Given the description of an element on the screen output the (x, y) to click on. 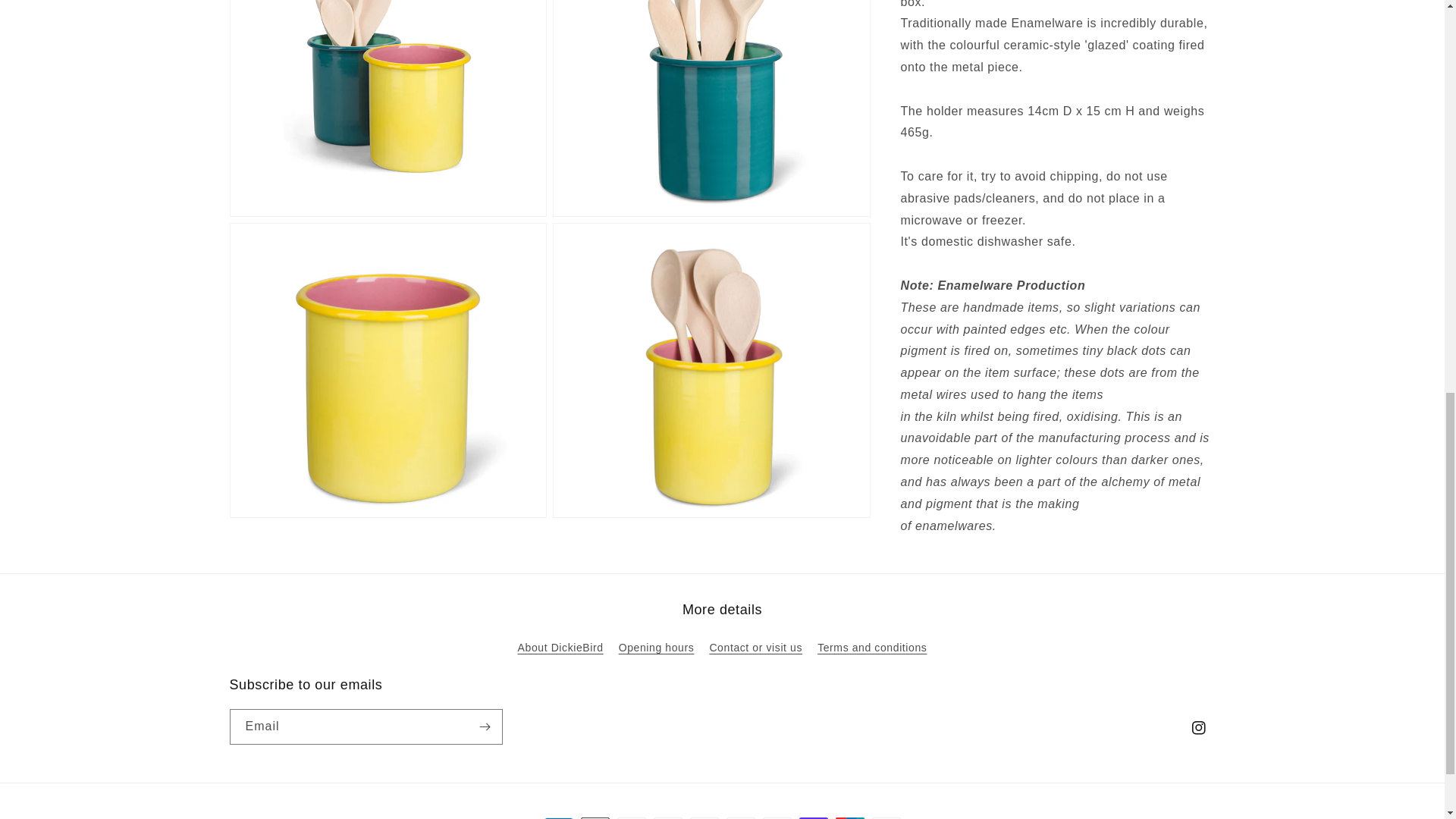
Opening hours (656, 647)
About DickieBird (561, 649)
Contact or visit us (755, 647)
Instagram (1197, 727)
Terms and conditions (871, 647)
